Given the description of an element on the screen output the (x, y) to click on. 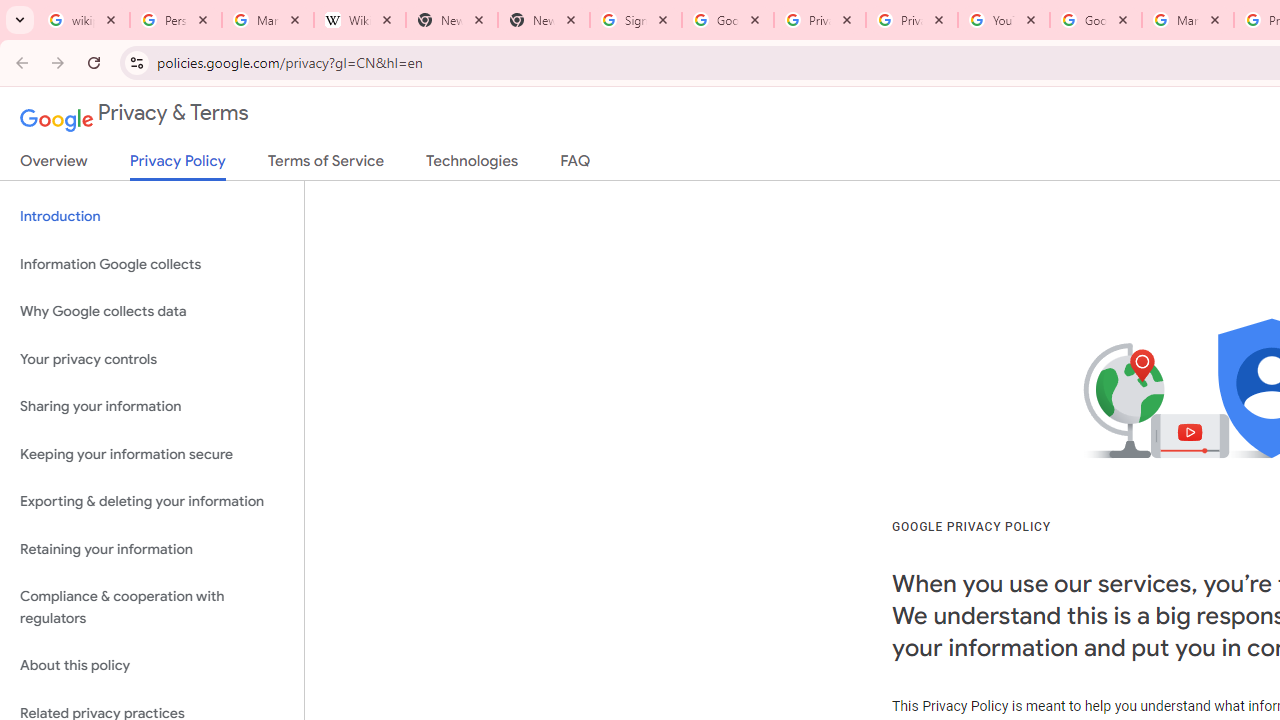
Sign in - Google Accounts (636, 20)
Google Account Help (1095, 20)
